Given the description of an element on the screen output the (x, y) to click on. 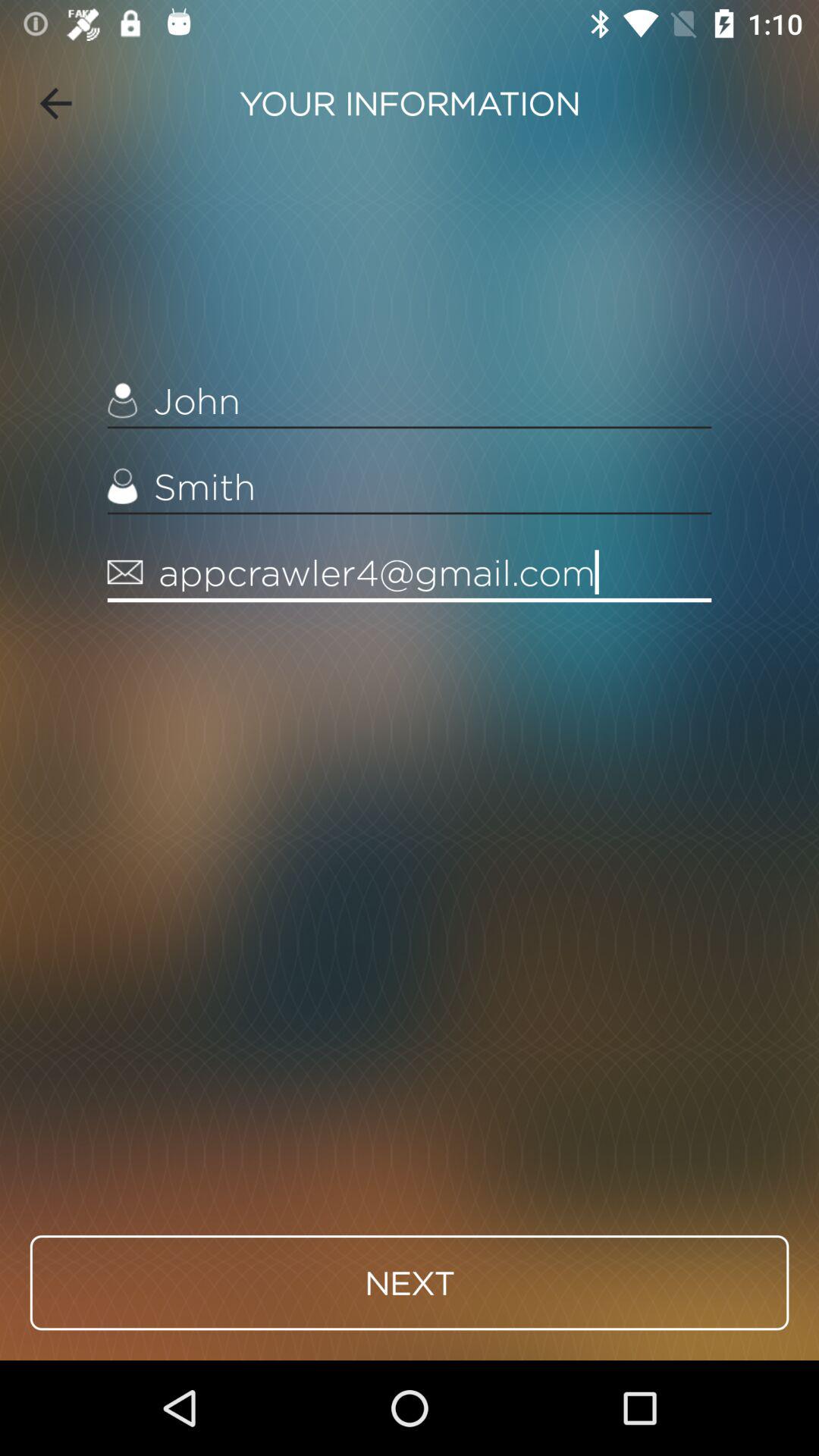
tap the next button (409, 1282)
